Given the description of an element on the screen output the (x, y) to click on. 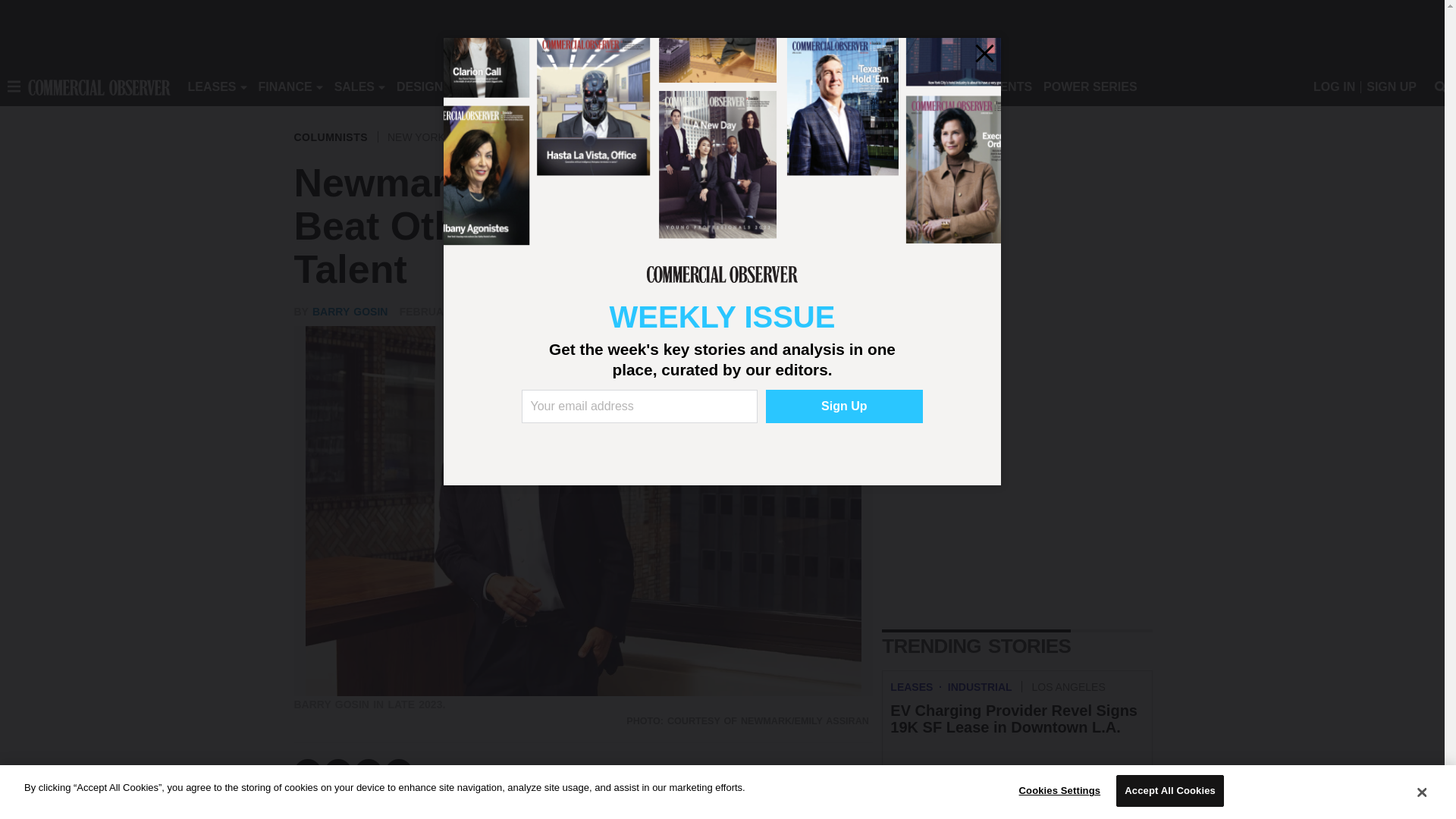
Send email (398, 772)
MORE (691, 86)
Posts by Barry Gosin (350, 311)
Tweet (338, 772)
TECHNOLOGY (619, 86)
LEASES (211, 86)
Share on Facebook (307, 772)
Share on LinkedIn (368, 772)
SALES (354, 86)
Commercial Observer Home (98, 86)
FINANCE (286, 86)
